Given the description of an element on the screen output the (x, y) to click on. 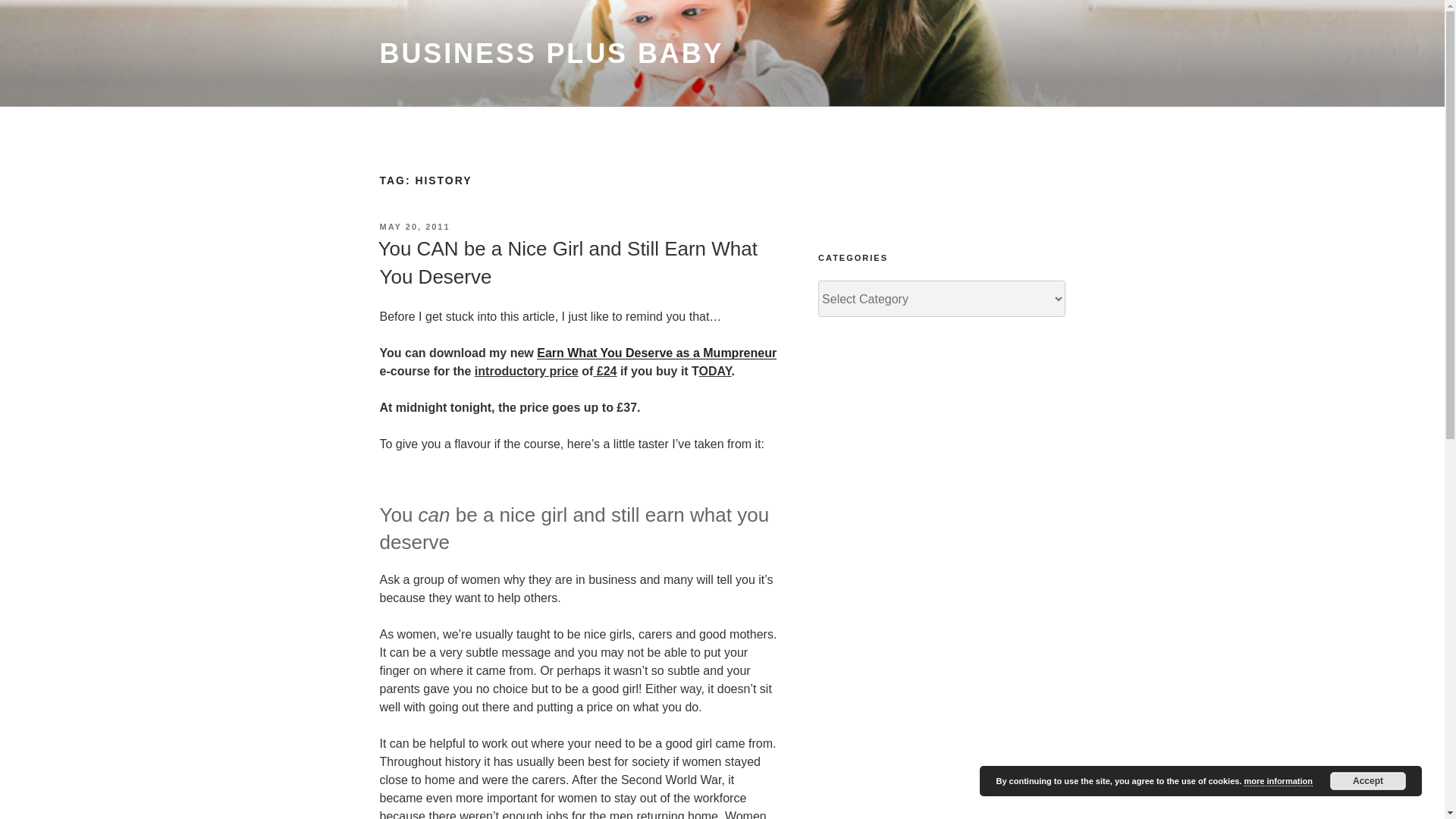
more information (1277, 781)
Accept (1368, 781)
You CAN be a Nice Girl and Still Earn What You Deserve (567, 262)
BUSINESS PLUS BABY (550, 52)
Earn What You Deserve as a Mumpreneur (656, 352)
MAY 20, 2011 (413, 225)
